Given the description of an element on the screen output the (x, y) to click on. 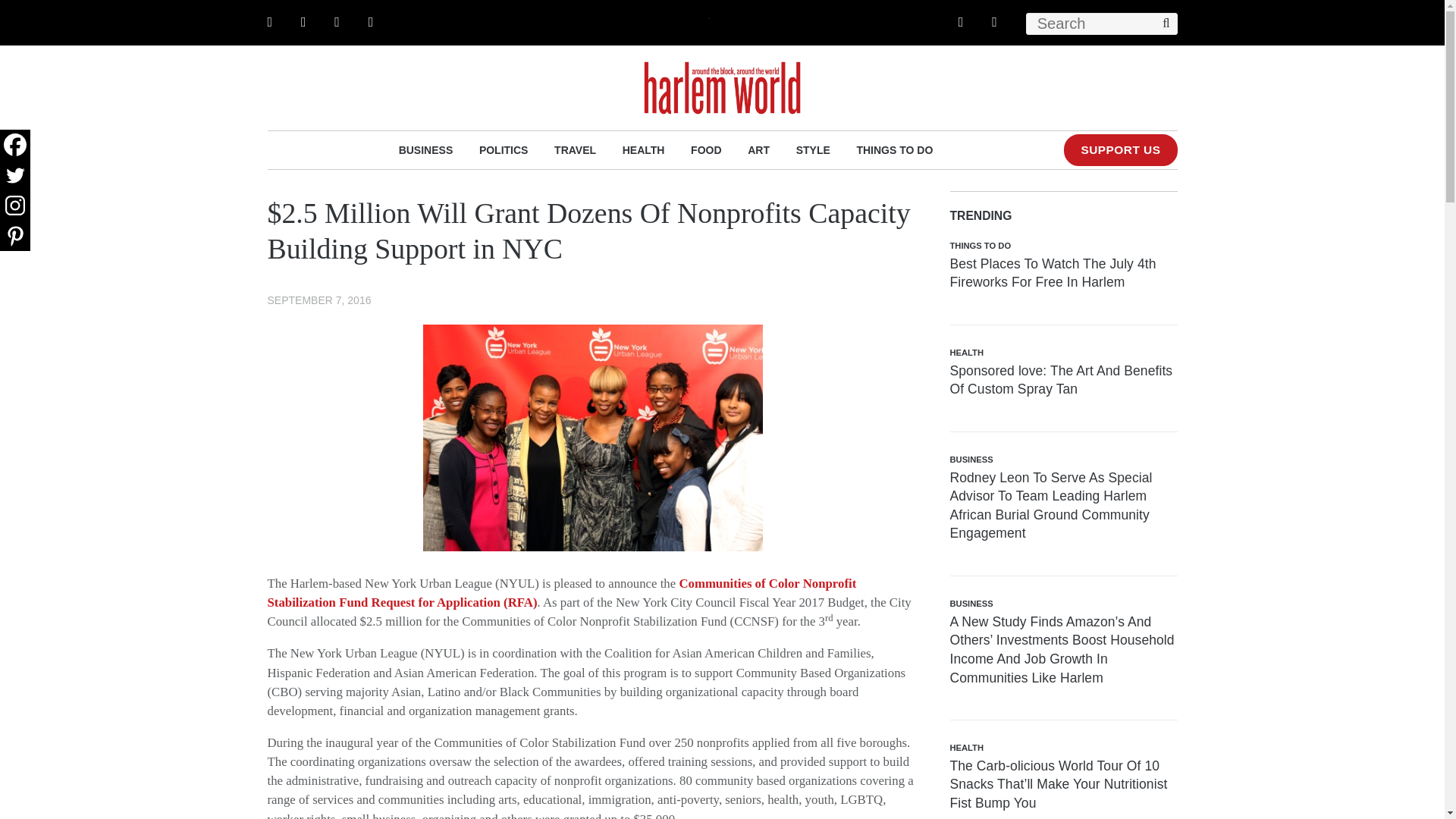
Newsletter (371, 21)
Podcast (994, 21)
POLITICS (503, 149)
BUSINESS (425, 149)
FOOD (705, 149)
Facebook (269, 21)
Facebook (15, 144)
STYLE (812, 149)
SUPPORT US (1120, 150)
Instagram (15, 205)
Twitter (15, 174)
HEALTH (644, 149)
THINGS TO DO (894, 149)
ART (759, 149)
